Given the description of an element on the screen output the (x, y) to click on. 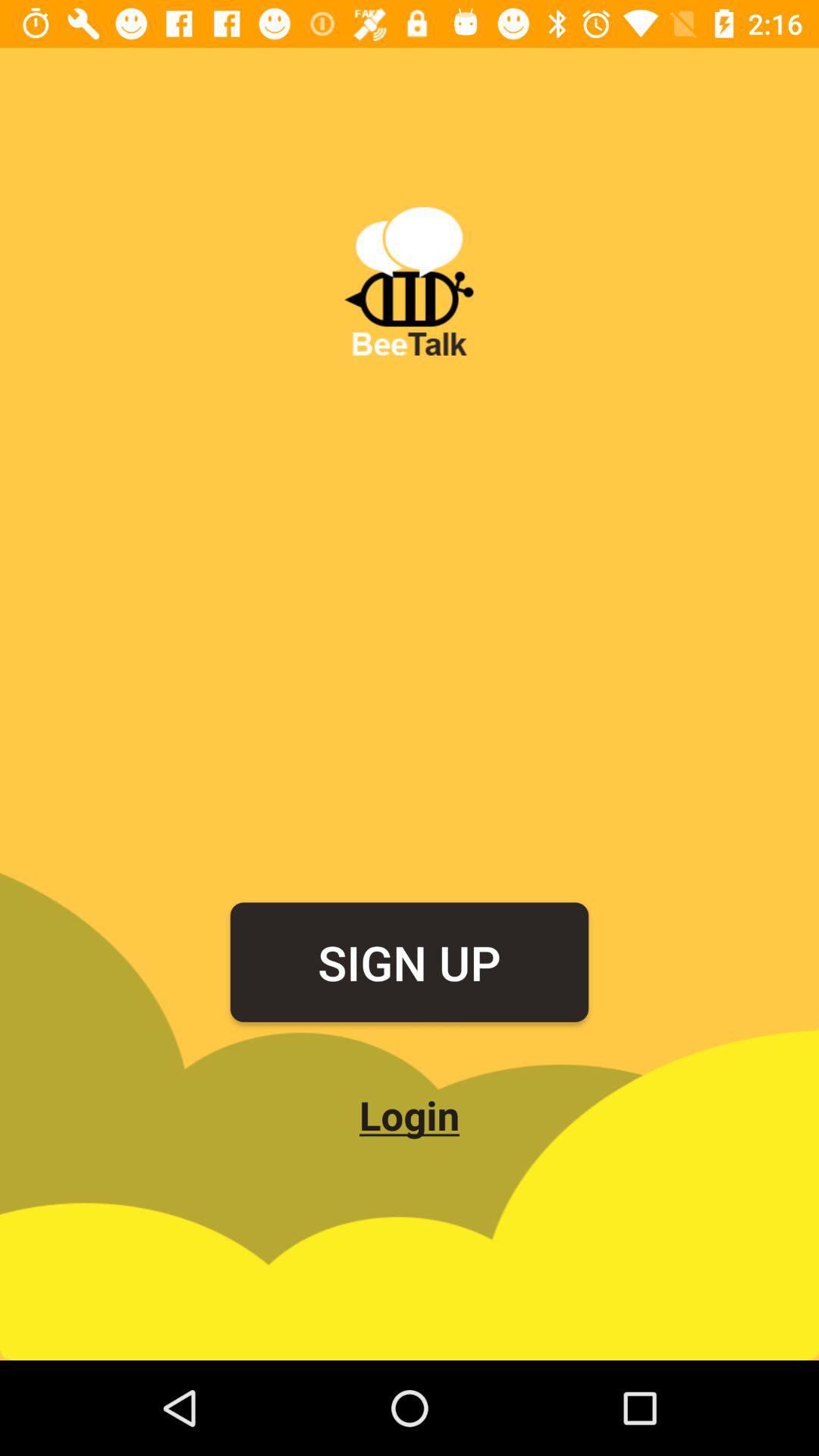
select the icon below the sign up icon (409, 1114)
